Given the description of an element on the screen output the (x, y) to click on. 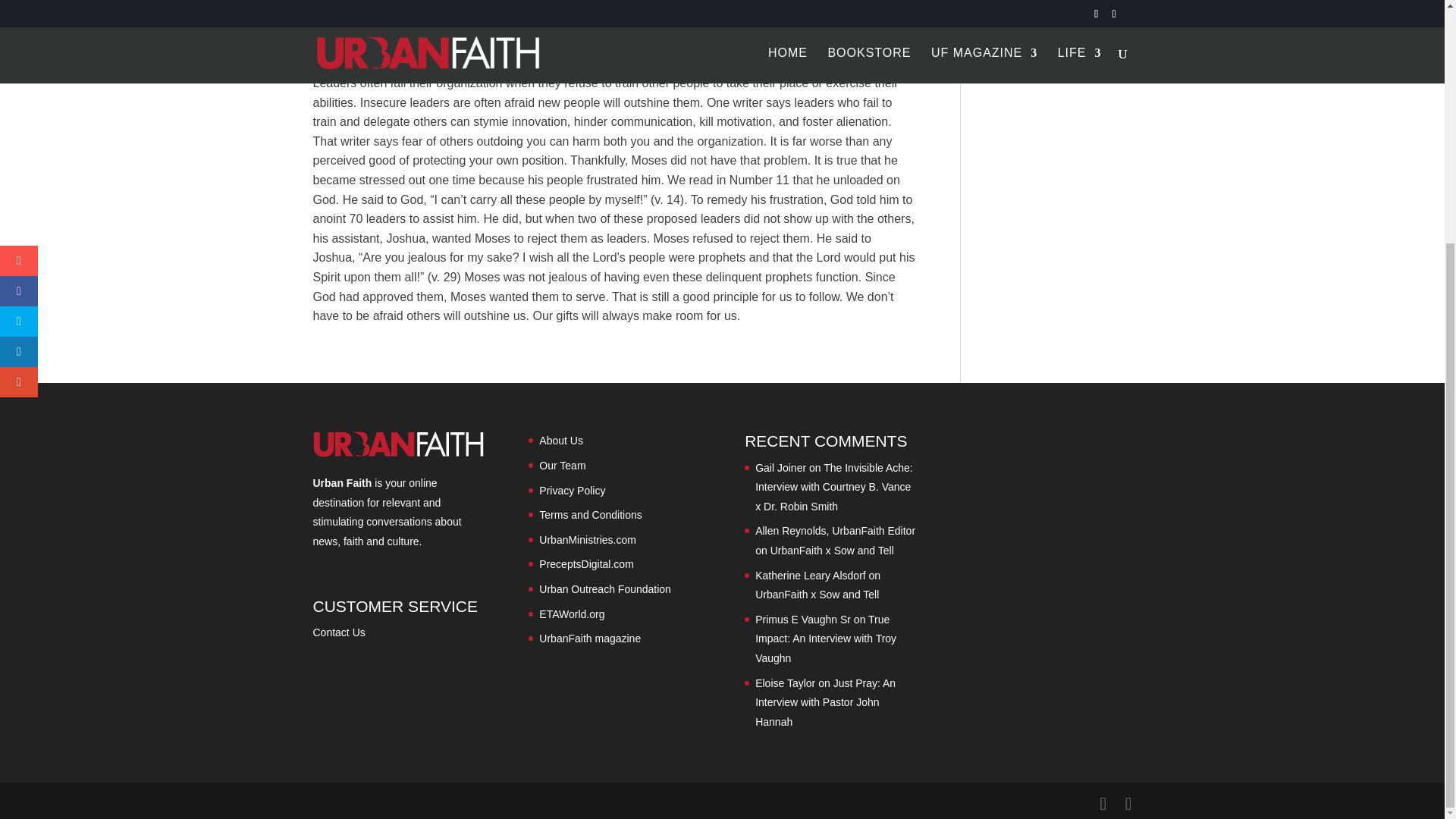
ETAWorld.org (571, 613)
Urban Outreach Foundation (604, 589)
True Impact: An Interview with Troy Vaughn (825, 638)
PreceptsDigital.com (585, 563)
About Us (560, 440)
Our Team (561, 465)
Contact Us (339, 632)
Privacy Policy (571, 490)
Terms and Conditions (590, 514)
RSS (386, 19)
UrbanMinistries.com (587, 539)
UrbanFaith magazine (589, 638)
UrbanFaith x Sow and Tell (831, 550)
UrbanFaith x Sow and Tell (817, 594)
Subscribe via RSS (386, 19)
